Given the description of an element on the screen output the (x, y) to click on. 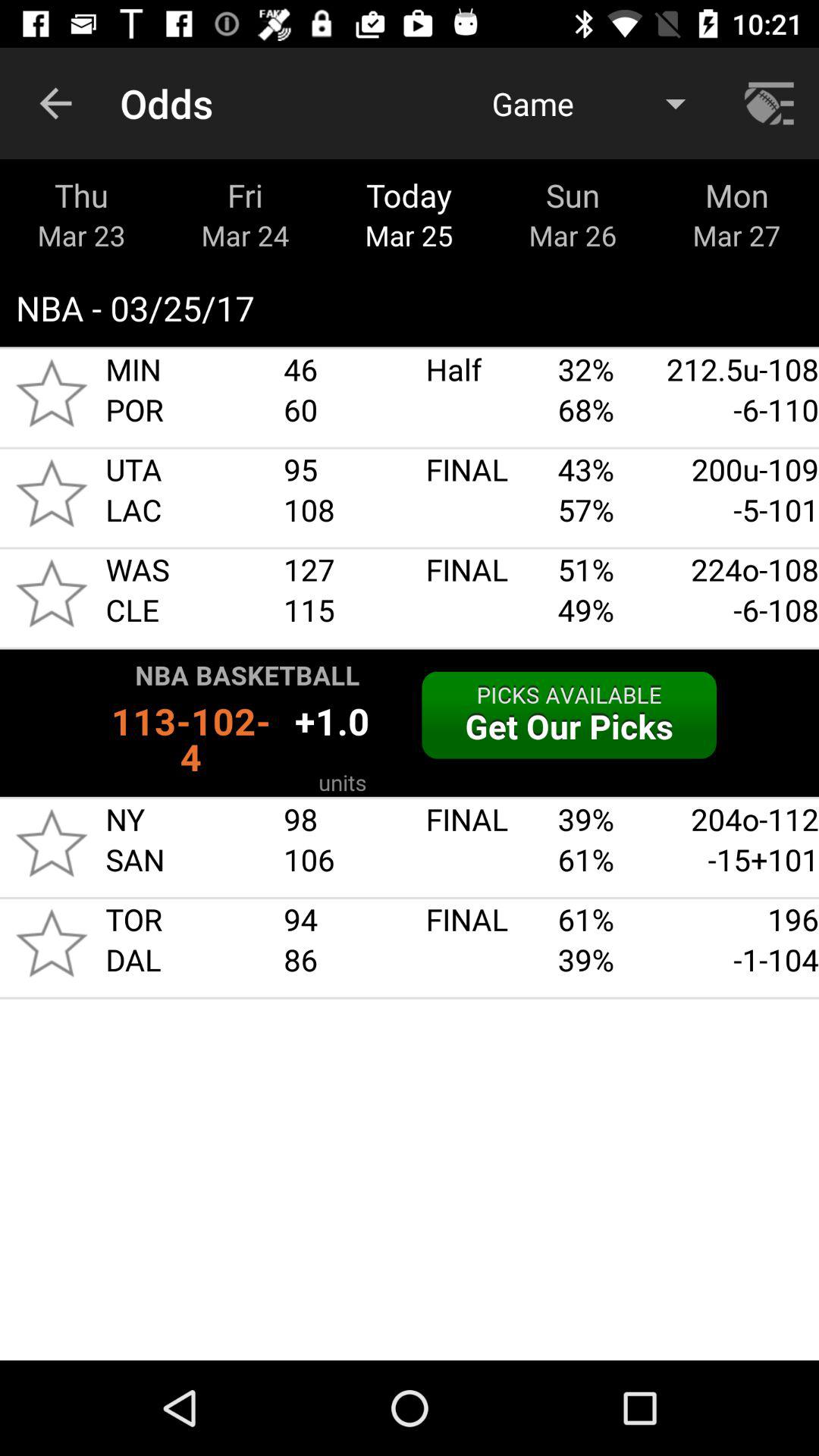
bookmark game (51, 942)
